Given the description of an element on the screen output the (x, y) to click on. 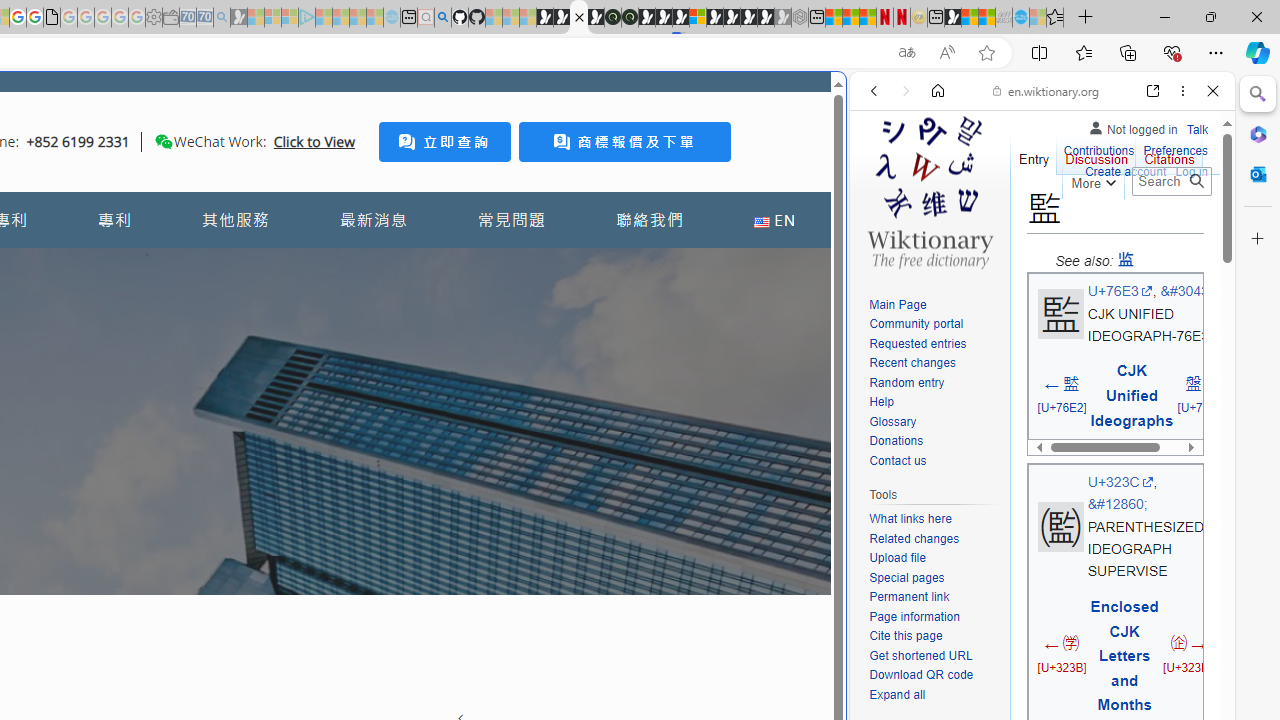
Glossary (934, 421)
Upload file (897, 557)
Related changes (934, 539)
Random entry (934, 382)
Earth has six continents not seven, radical new study claims (986, 17)
